Given the description of an element on the screen output the (x, y) to click on. 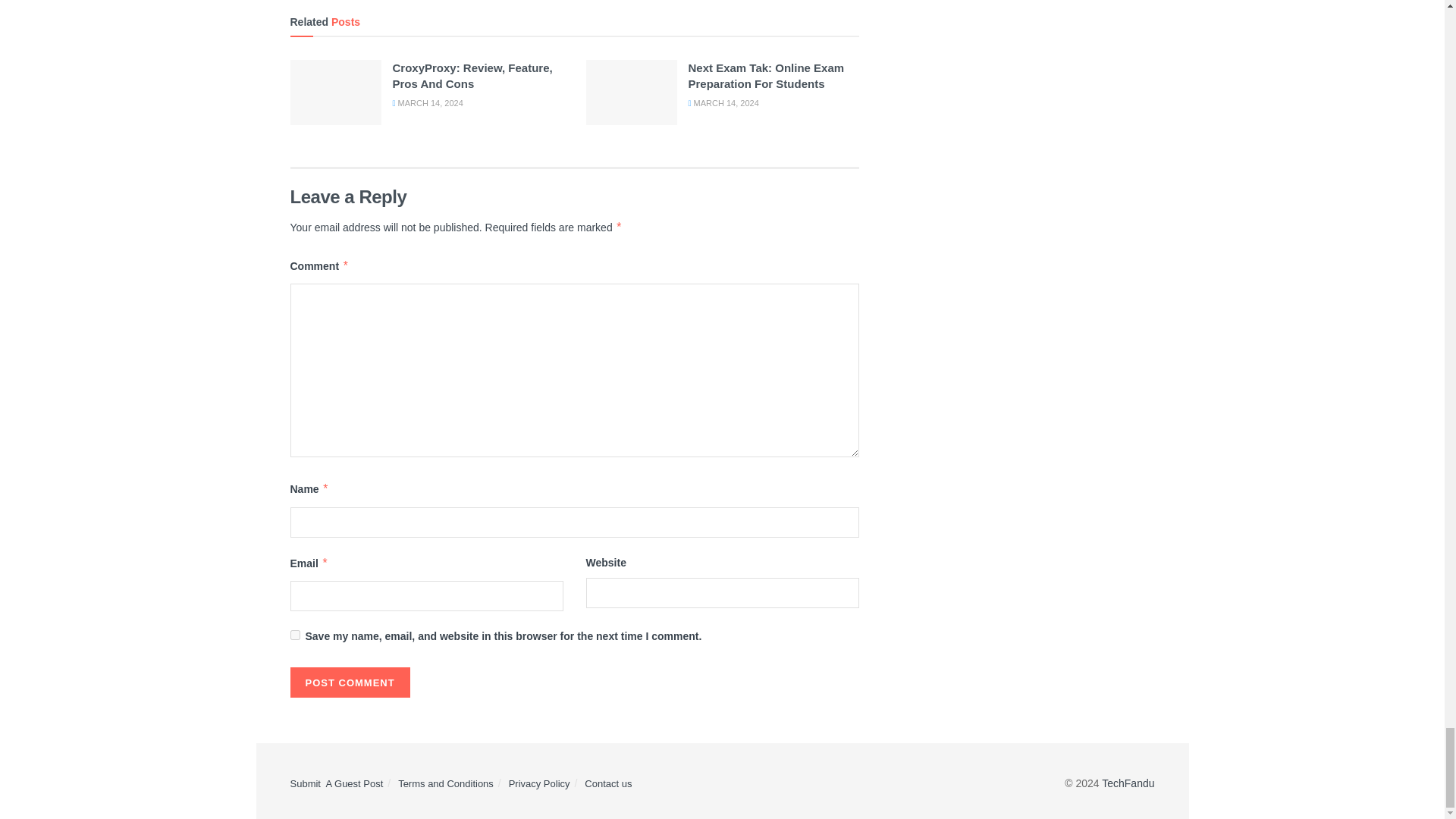
Post Comment (349, 682)
yes (294, 634)
TechFandu (1128, 783)
